Given the description of an element on the screen output the (x, y) to click on. 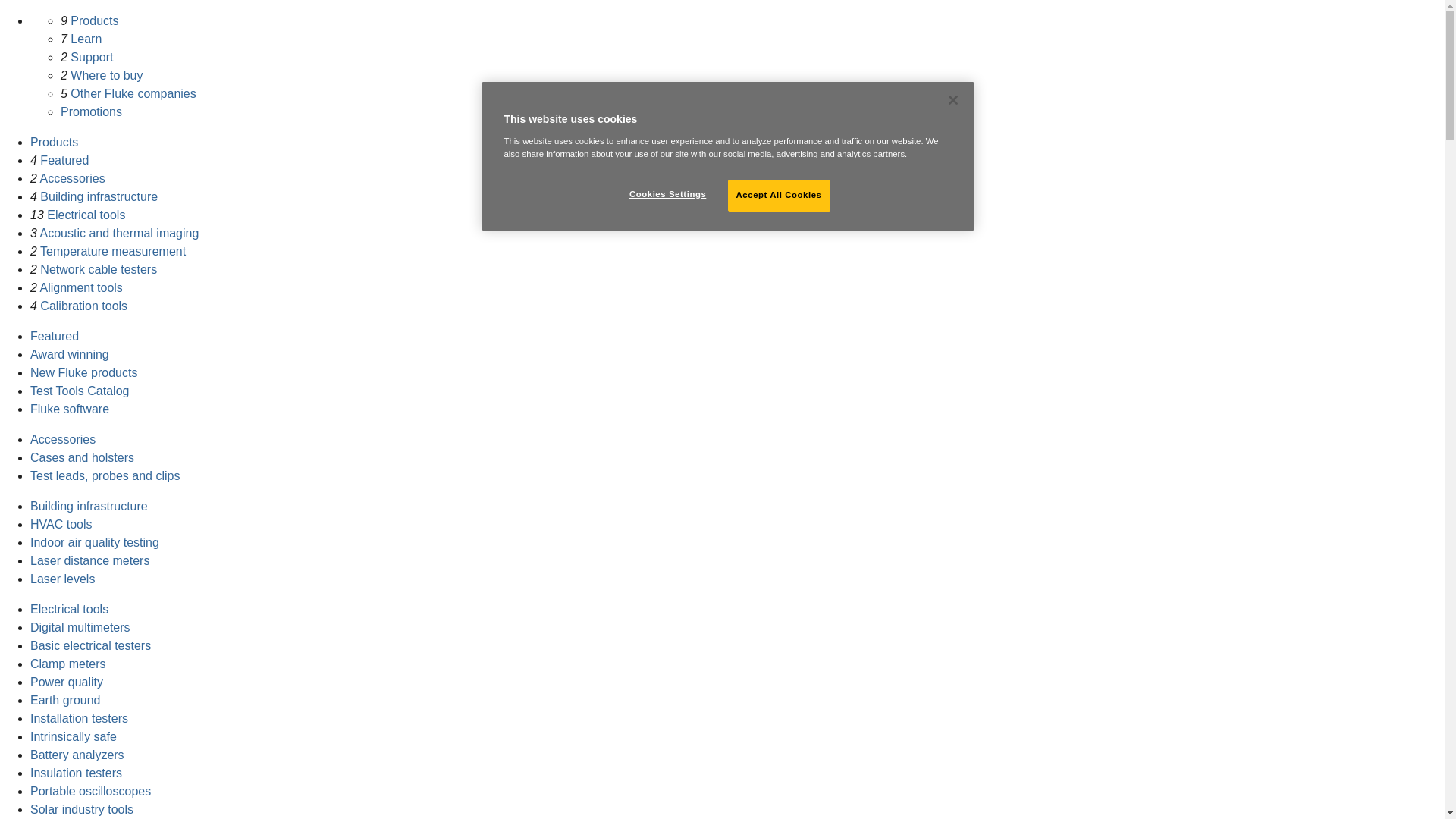
Where to buy (105, 74)
Test Tools Catalog (79, 390)
New Fluke products (83, 372)
Featured (54, 336)
Fluke software (69, 408)
Products (54, 141)
Alignment tools (80, 287)
Products (93, 20)
Learn (85, 38)
Electrical tools (85, 214)
Award winning (69, 354)
Accessories (63, 439)
Calibration tools (84, 305)
Cases and holsters (81, 457)
Network cable testers (98, 269)
